Given the description of an element on the screen output the (x, y) to click on. 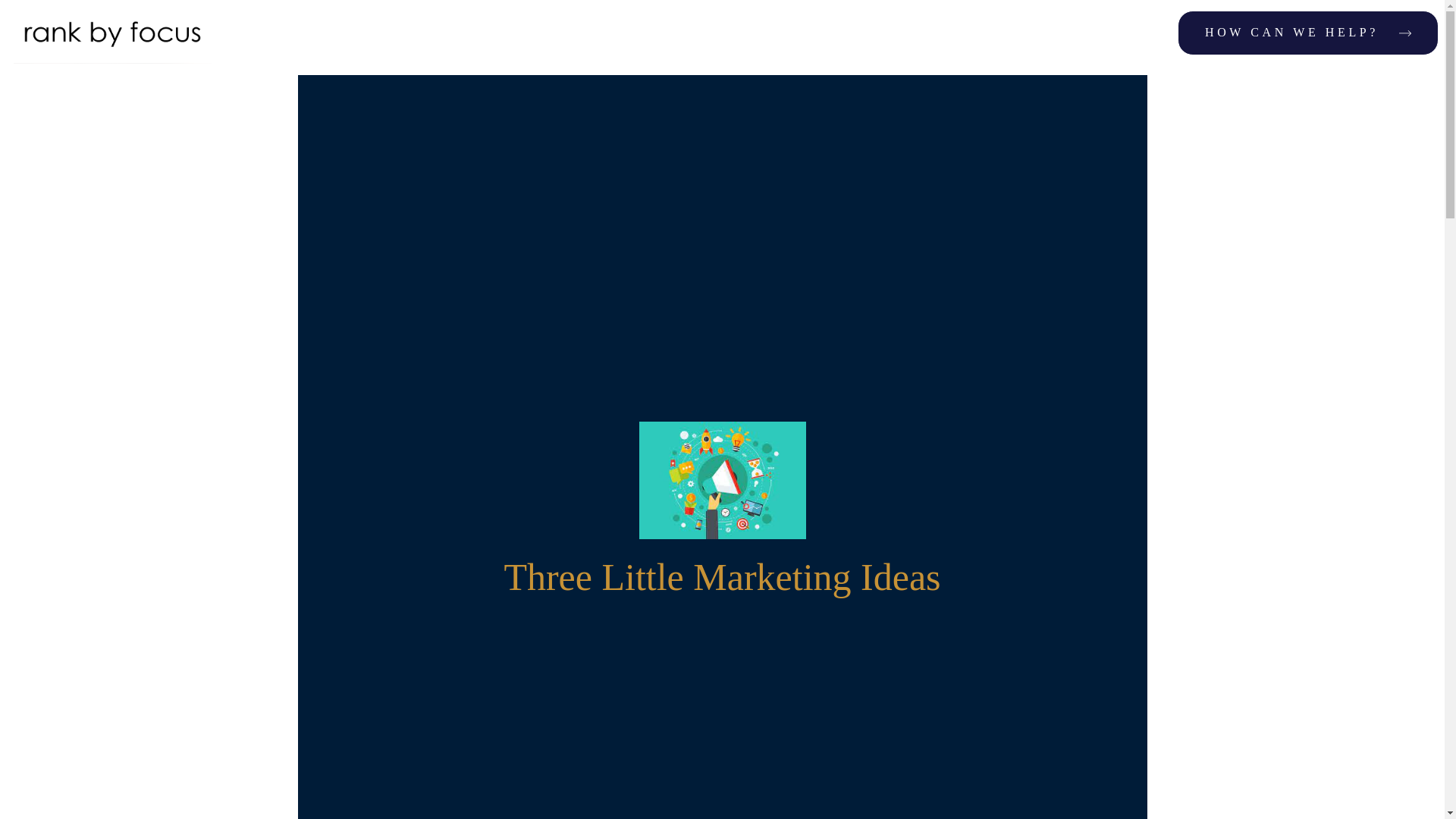
Skip to main content (92, 22)
Three Little Marketing Ideas (721, 576)
